Given the description of an element on the screen output the (x, y) to click on. 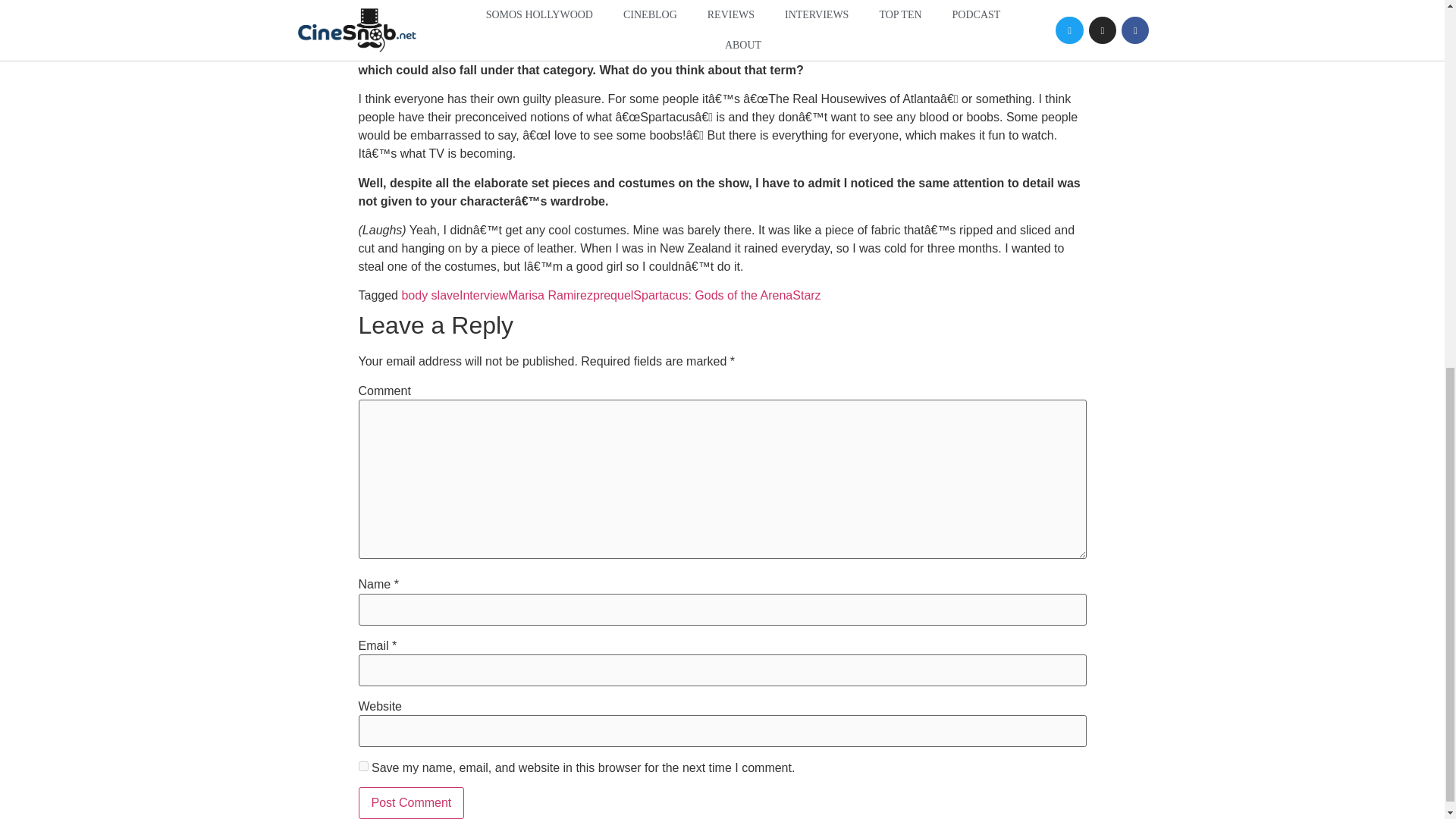
Interview (484, 295)
Marisa Ramirez (550, 295)
yes (363, 766)
body slave (430, 295)
